Given the description of an element on the screen output the (x, y) to click on. 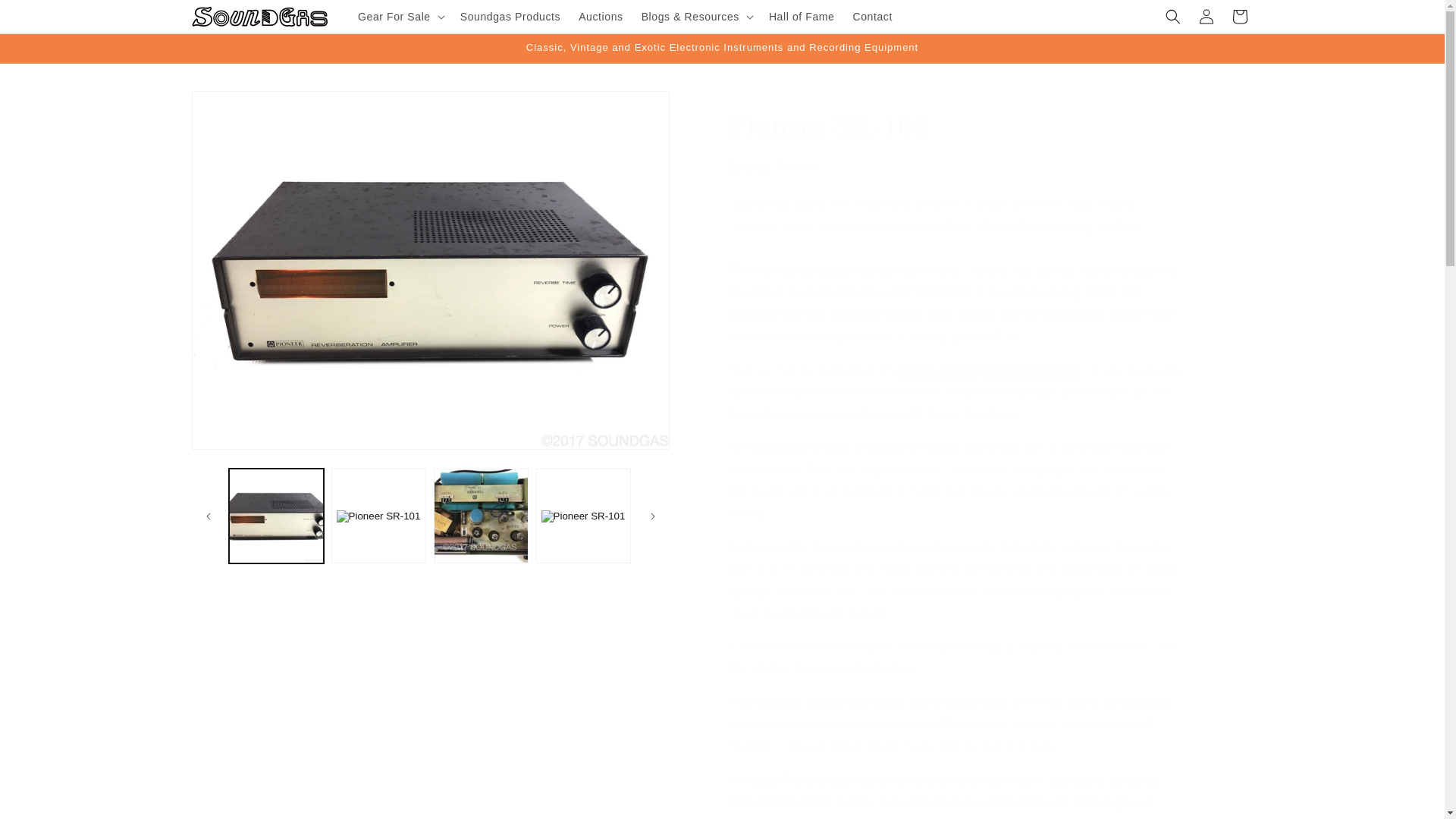
Skip to content (45, 17)
